Given the description of an element on the screen output the (x, y) to click on. 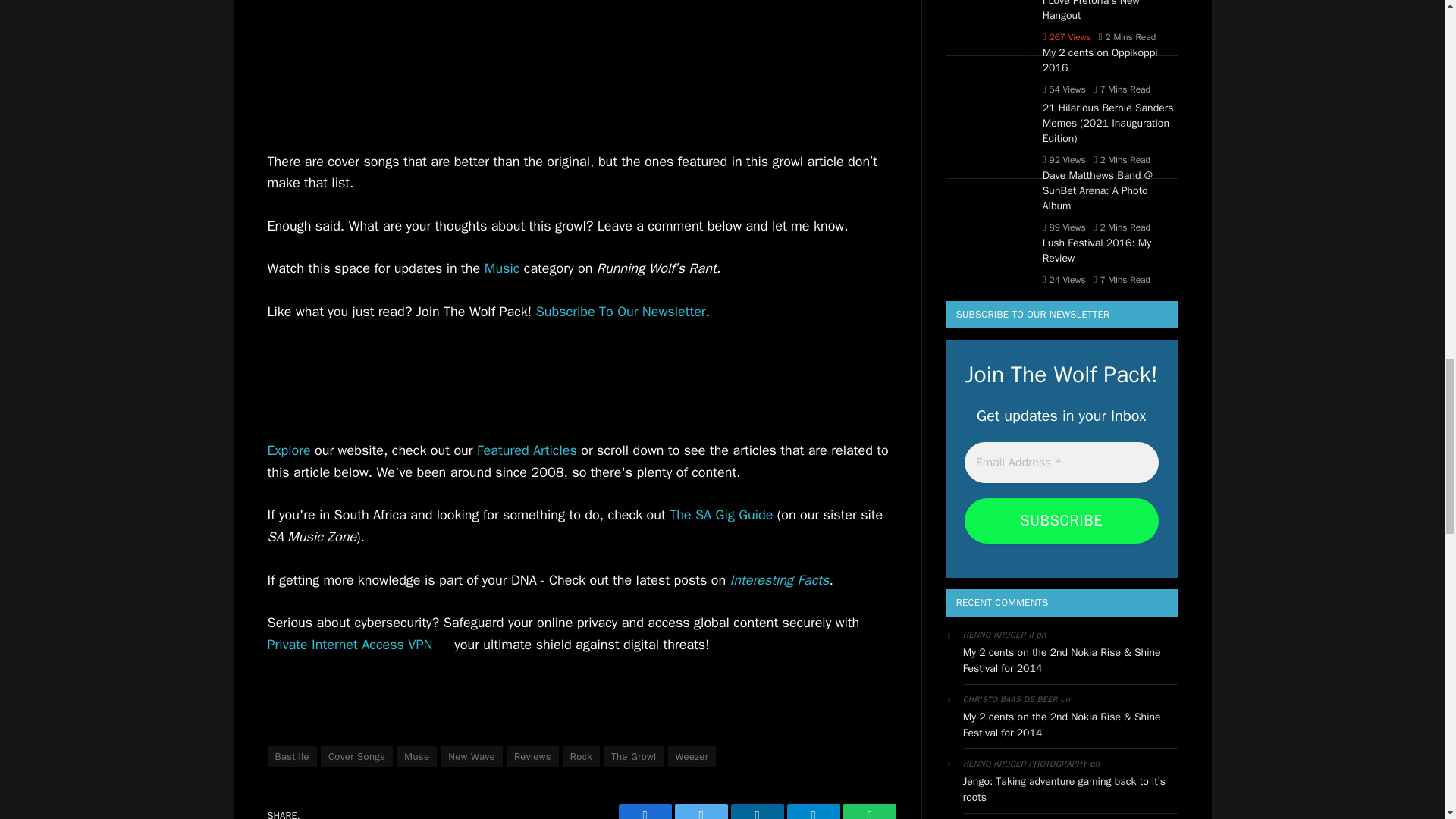
SUBSCRIBE (1060, 520)
